Given the description of an element on the screen output the (x, y) to click on. 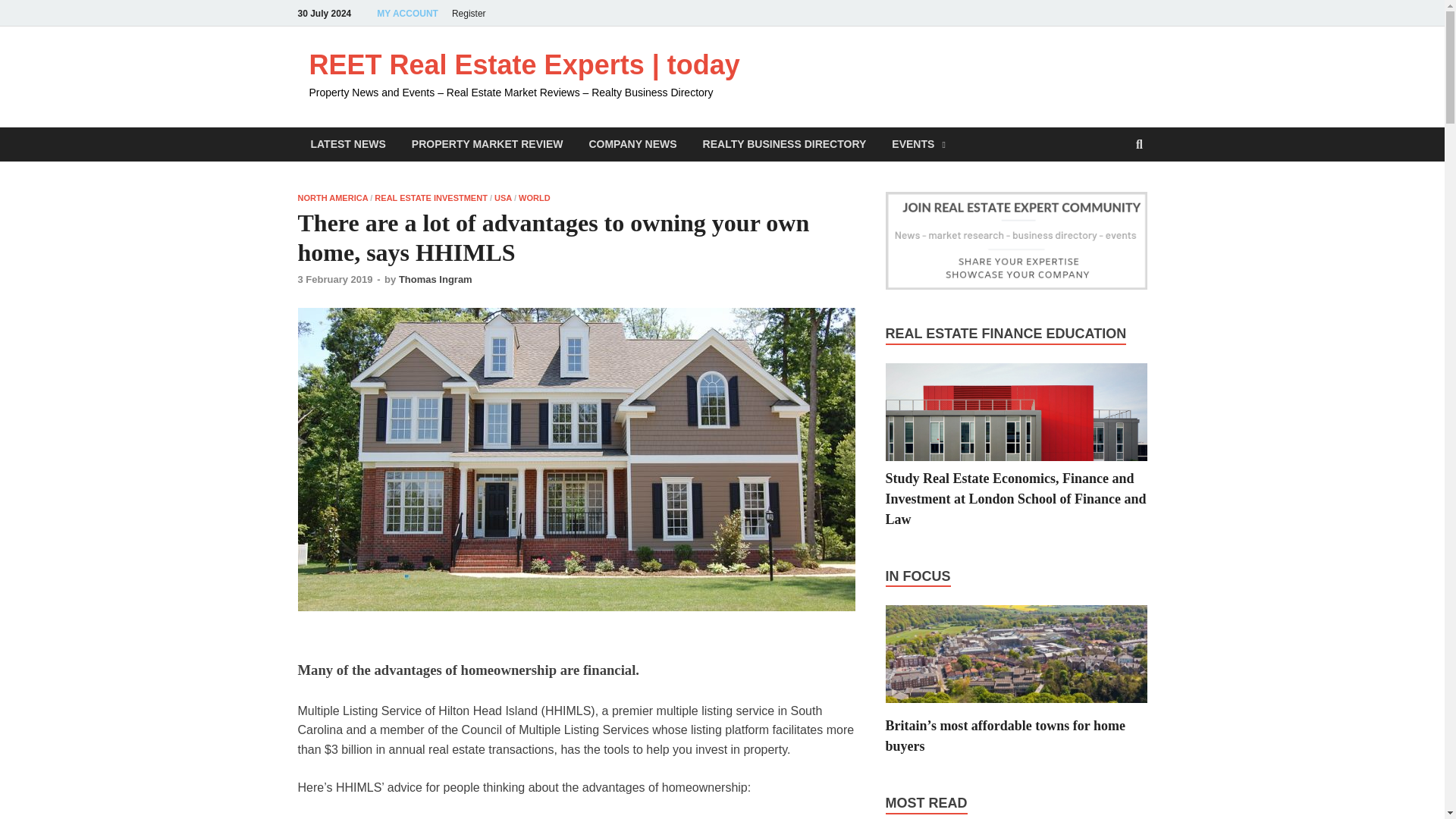
PROPERTY MARKET REVIEW (487, 144)
REAL ESTATE INVESTMENT (430, 197)
EVENTS (918, 144)
Register (469, 13)
LATEST NEWS (347, 144)
MY ACCOUNT (407, 13)
WORLD (534, 197)
USA (503, 197)
REALTY BUSINESS DIRECTORY (784, 144)
3 February 2019 (334, 279)
NORTH AMERICA (332, 197)
COMPANY NEWS (631, 144)
Thomas Ingram (434, 279)
